Given the description of an element on the screen output the (x, y) to click on. 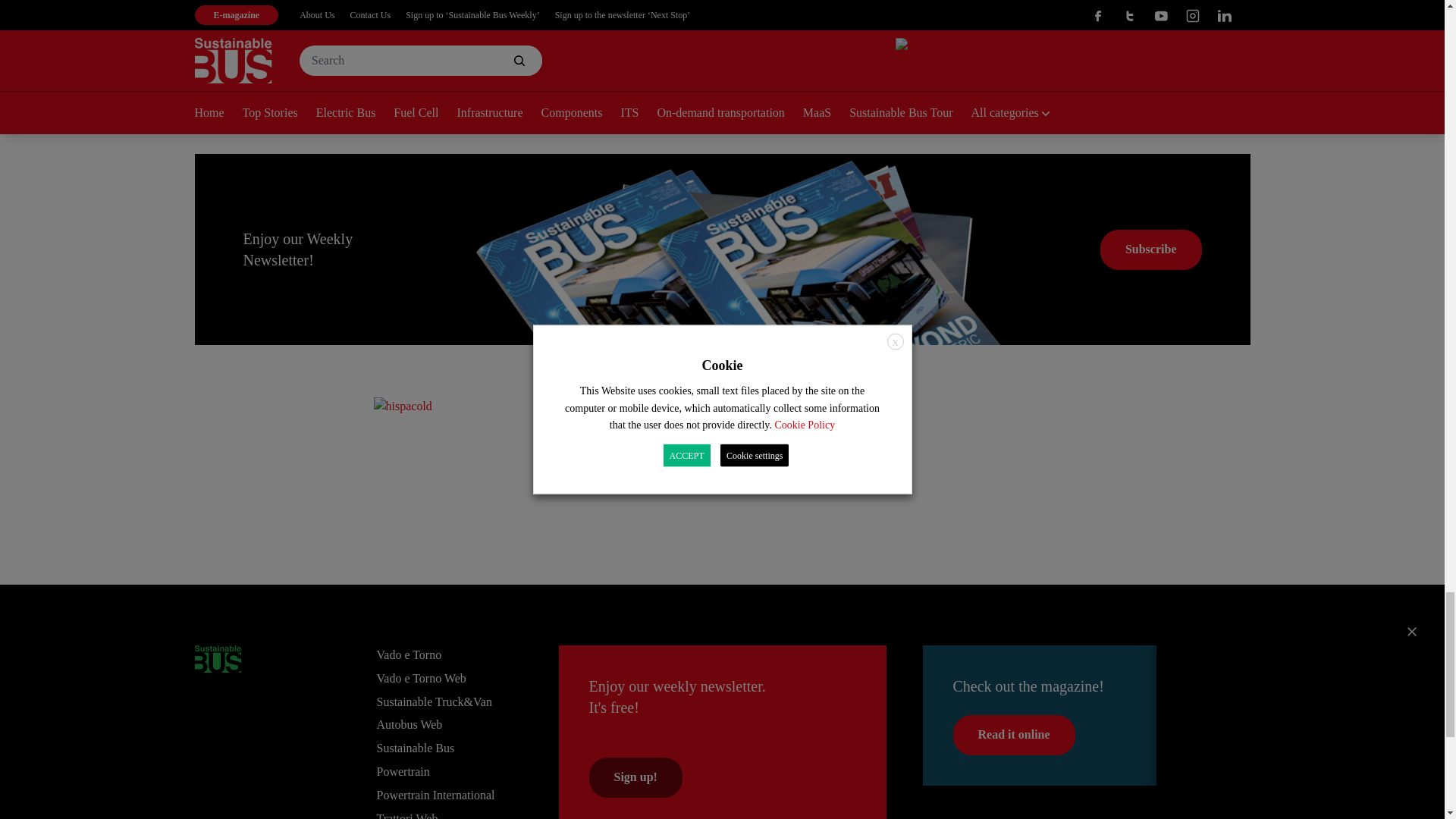
Sustainable Bus (216, 658)
